Given the description of an element on the screen output the (x, y) to click on. 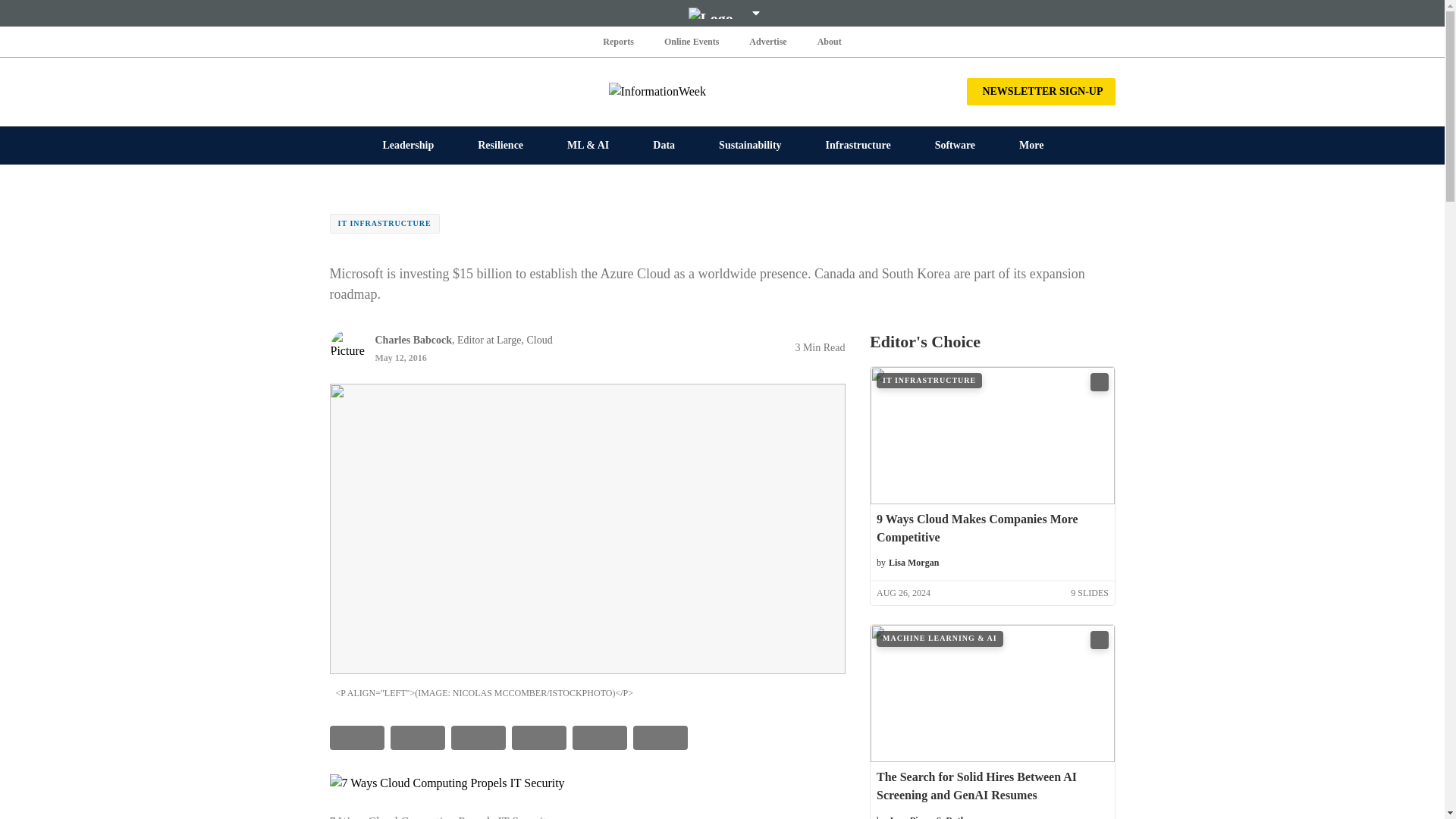
Reports (618, 41)
InformationWeek (721, 91)
About (828, 41)
Online Events (691, 41)
Advertise (767, 41)
NEWSLETTER SIGN-UP (1040, 90)
